Given the description of an element on the screen output the (x, y) to click on. 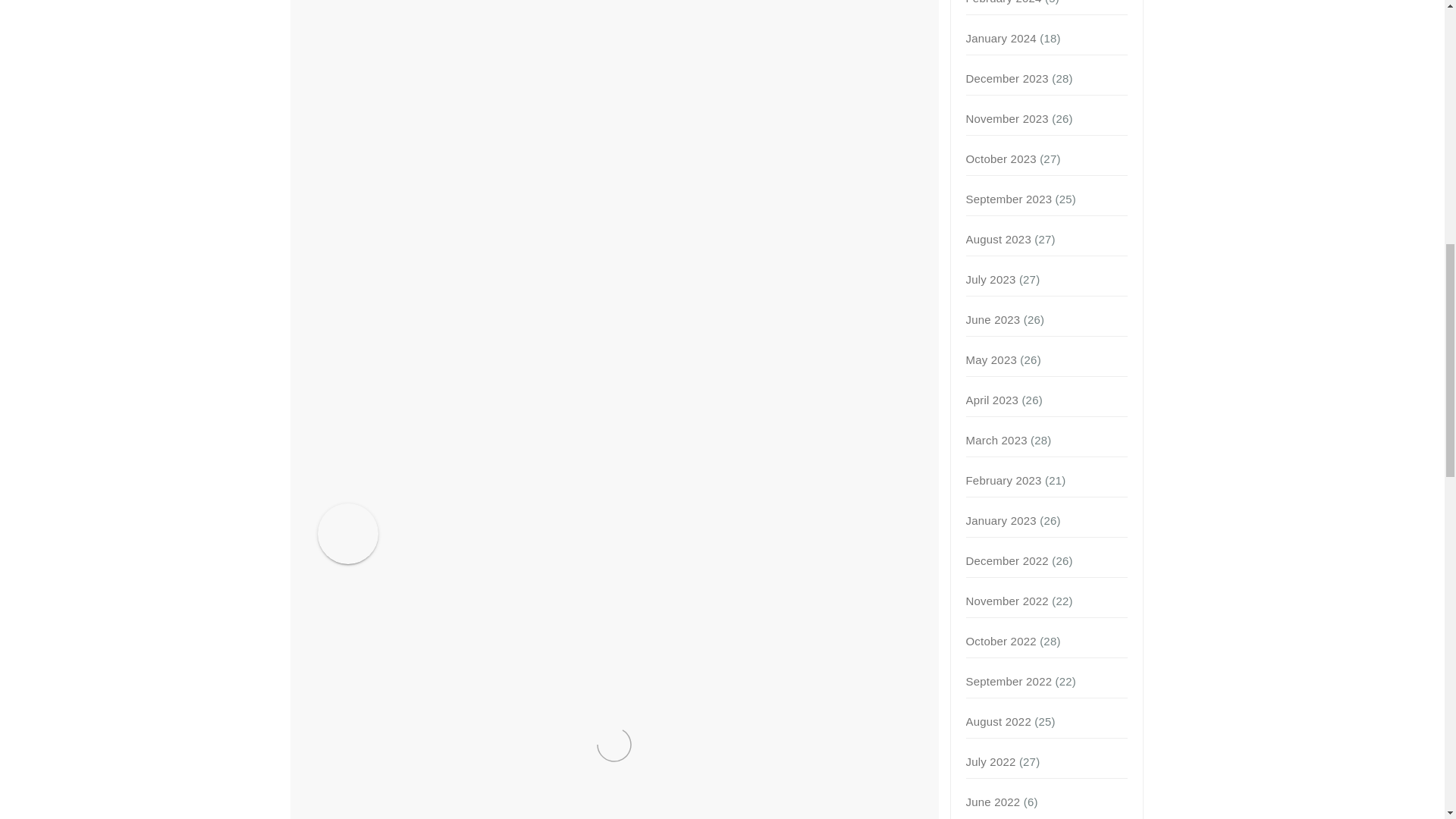
admin (463, 515)
January 2024 (1001, 38)
January 2023 (1001, 520)
May 2023 (991, 359)
November 2023 (1007, 118)
October 2022 (1001, 640)
February 2024 (1004, 2)
April 2023 (992, 399)
December 2023 (1007, 78)
March 2023 (996, 440)
October 2023 (1001, 158)
November 2022 (1007, 600)
February 2023 (1004, 480)
December 2022 (1007, 560)
June 2023 (993, 318)
